Given the description of an element on the screen output the (x, y) to click on. 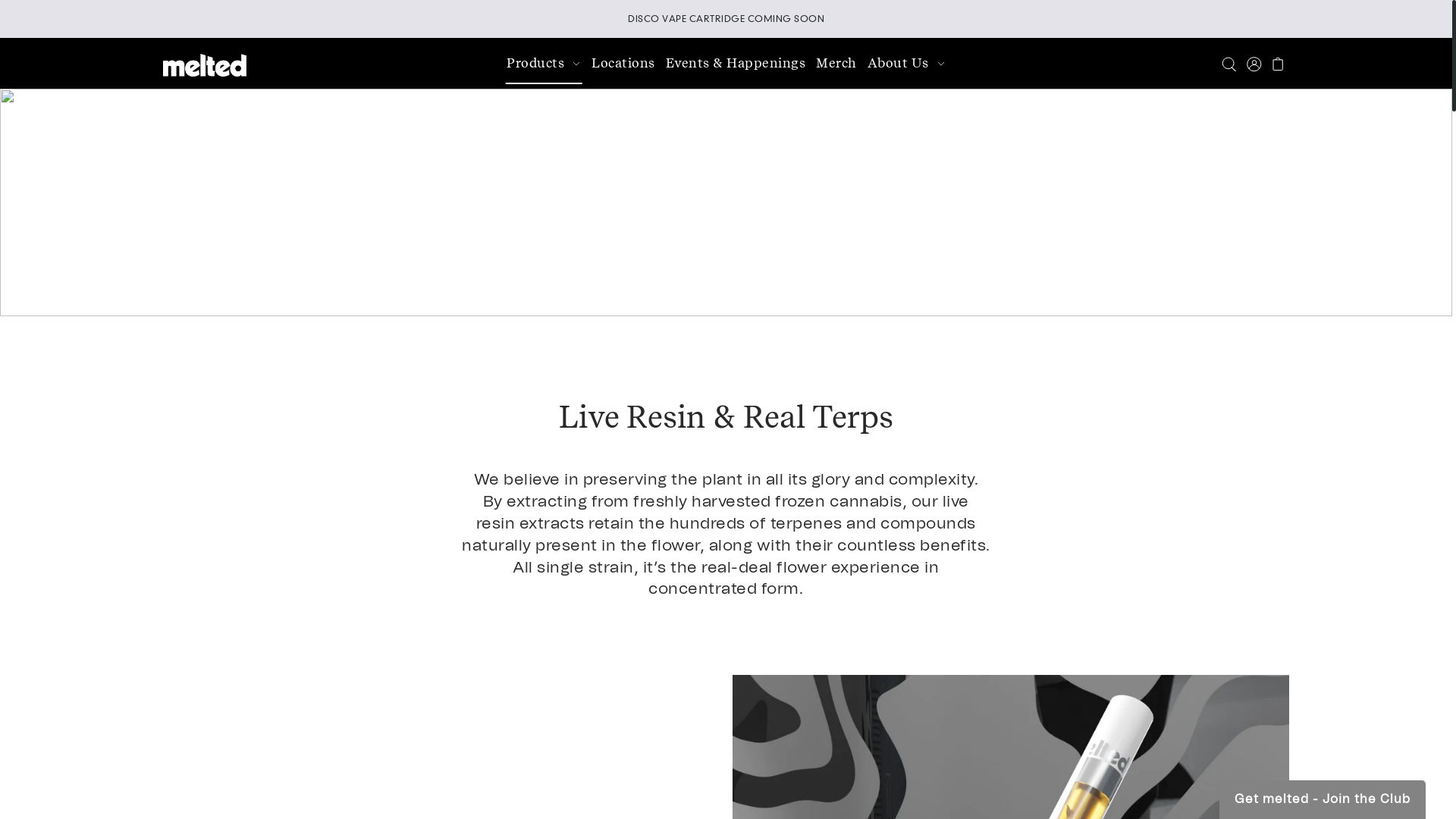
Merch Element type: text (836, 63)
Locations Element type: text (623, 63)
Products Element type: text (543, 63)
Events & Happenings Element type: text (735, 63)
About Us Element type: text (906, 63)
